Given the description of an element on the screen output the (x, y) to click on. 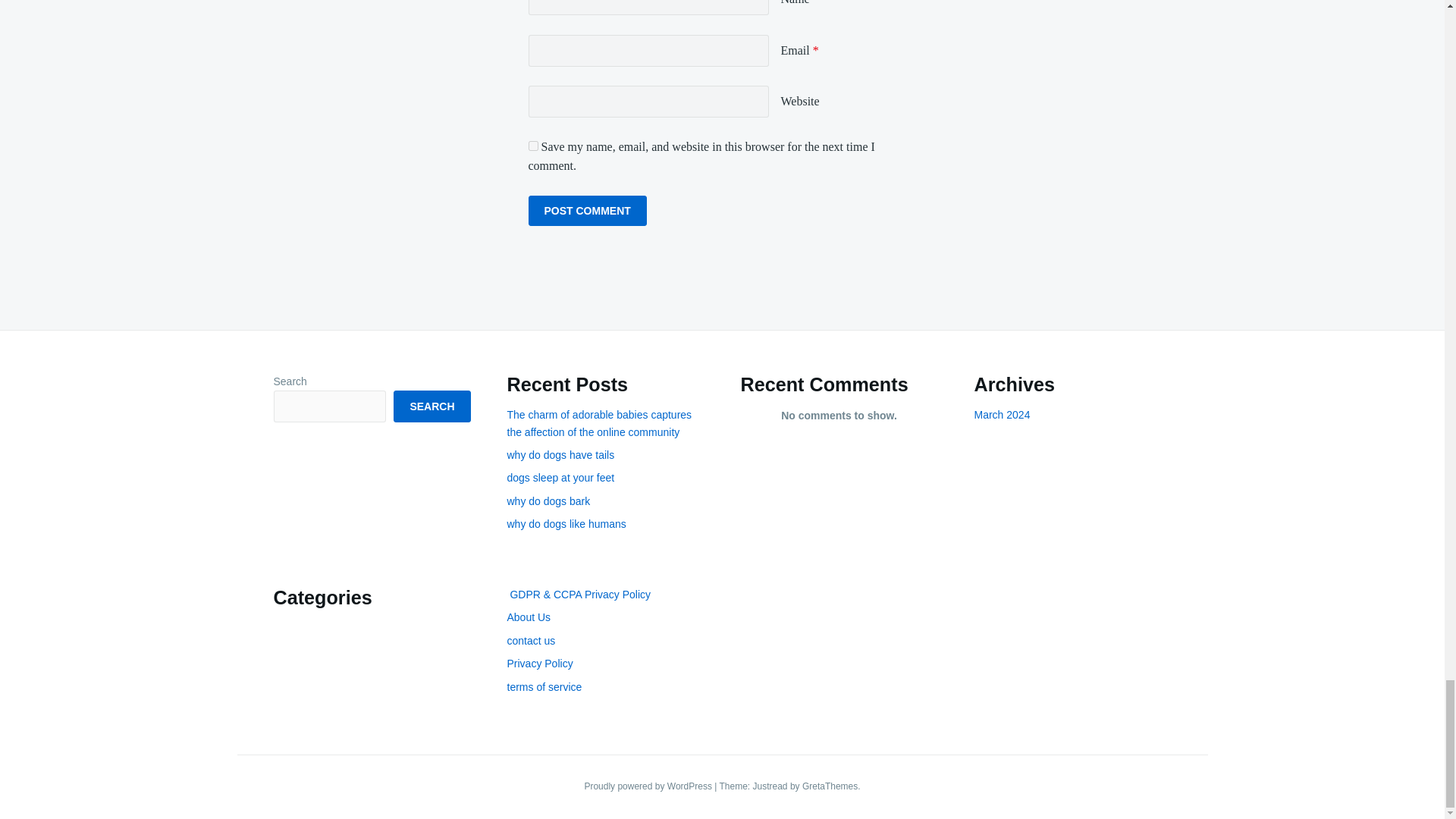
why do dogs have tails (560, 454)
terms of service (543, 686)
Post Comment (586, 210)
GretaThemes (829, 786)
SEARCH (431, 406)
Proudly powered by WordPress (648, 786)
contact us (530, 640)
dogs sleep at your feet (560, 477)
March 2024 (1001, 414)
Post Comment (586, 210)
why do dogs bark (547, 500)
why do dogs like humans (566, 523)
About Us (528, 616)
yes (532, 145)
Privacy Policy (539, 663)
